Given the description of an element on the screen output the (x, y) to click on. 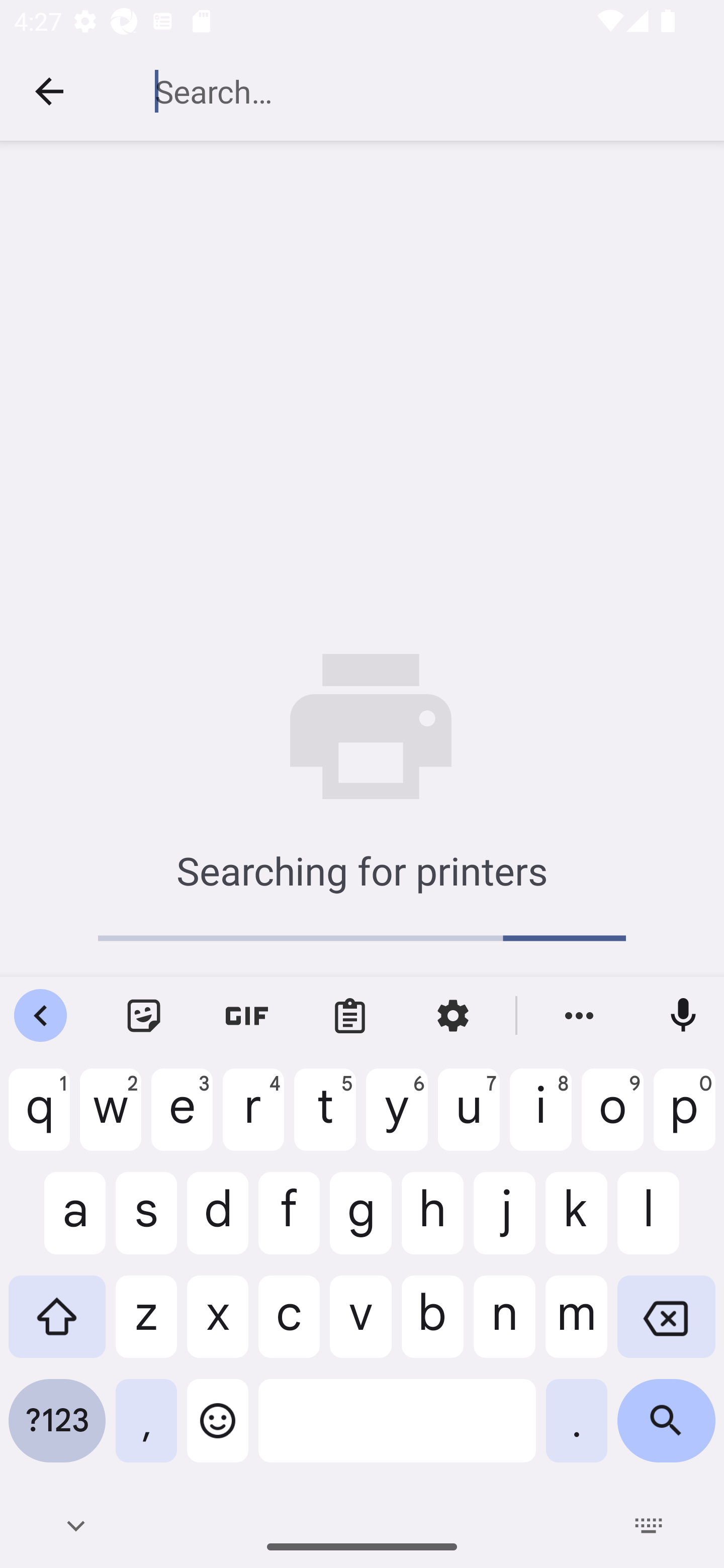
Collapse (49, 91)
Search… (407, 91)
